Given the description of an element on the screen output the (x, y) to click on. 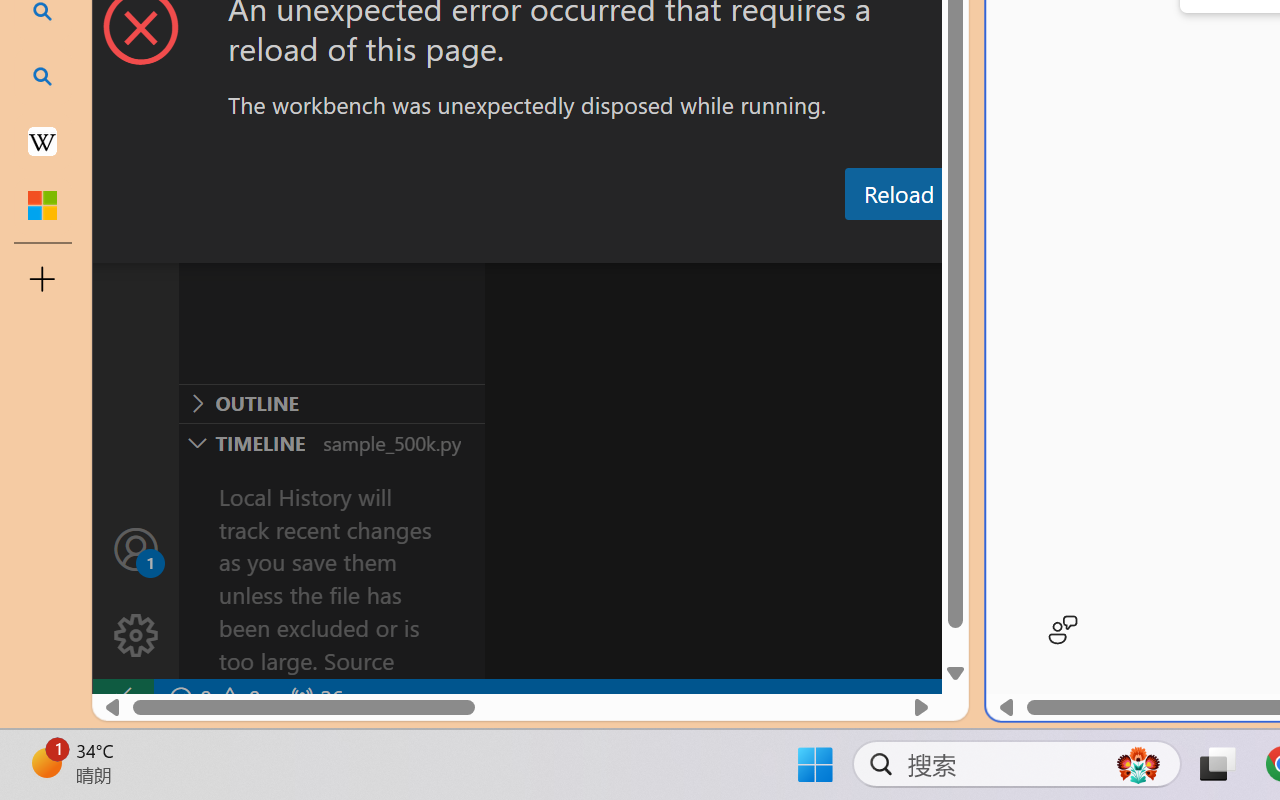
TextBox 7 (1242, 36)
Camera 9, No camera detected. (969, 186)
